Given the description of an element on the screen output the (x, y) to click on. 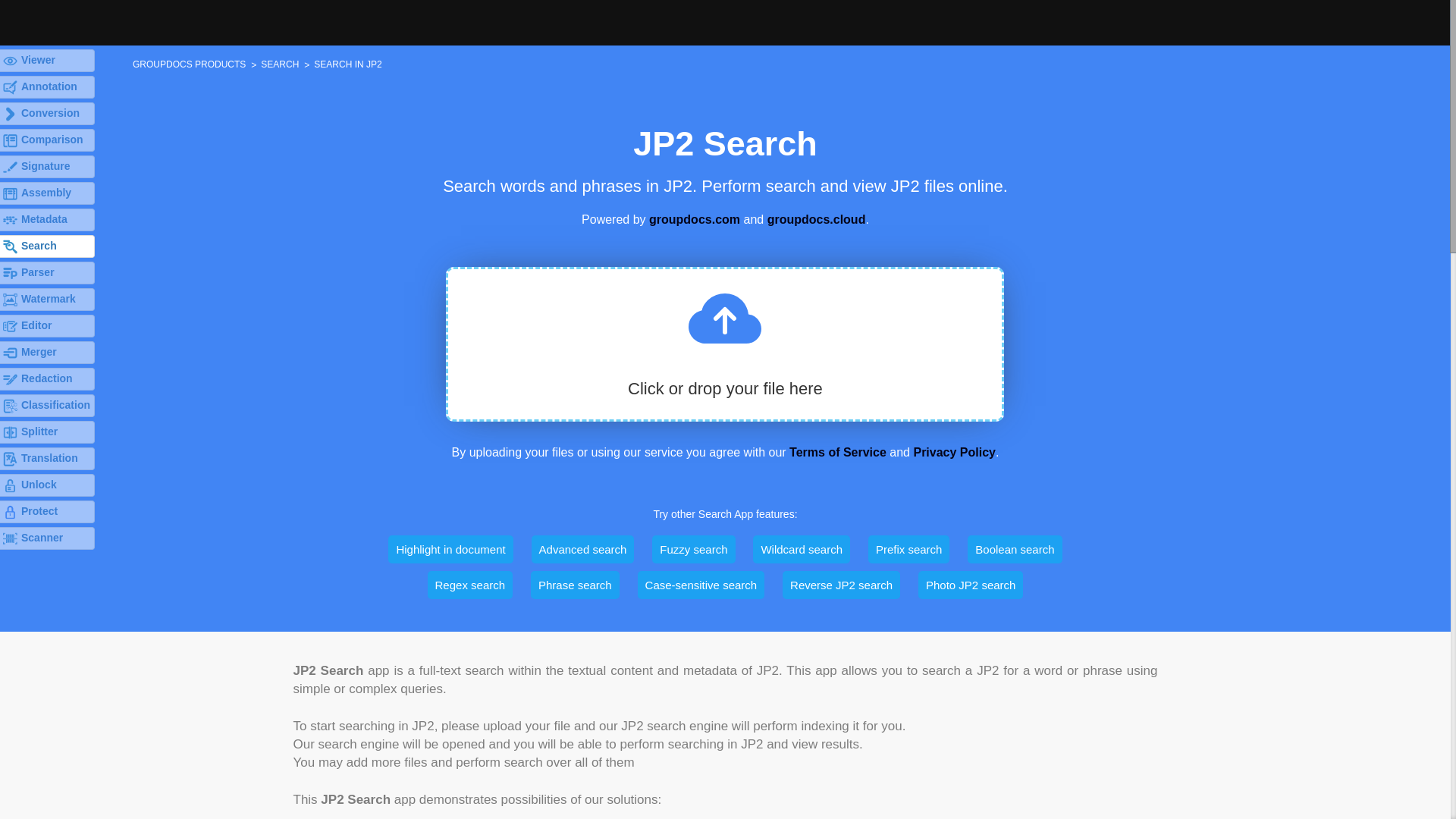
SEARCH (279, 63)
groupdocs.cloud (816, 219)
Convert popular document and image file formats. (47, 113)
Phrase search (575, 584)
Highlight in document (450, 549)
groupdocs.com (694, 219)
Wildcard search (801, 549)
Prefix search (908, 549)
Boolean search (1014, 549)
Terms of Service (837, 451)
